Given the description of an element on the screen output the (x, y) to click on. 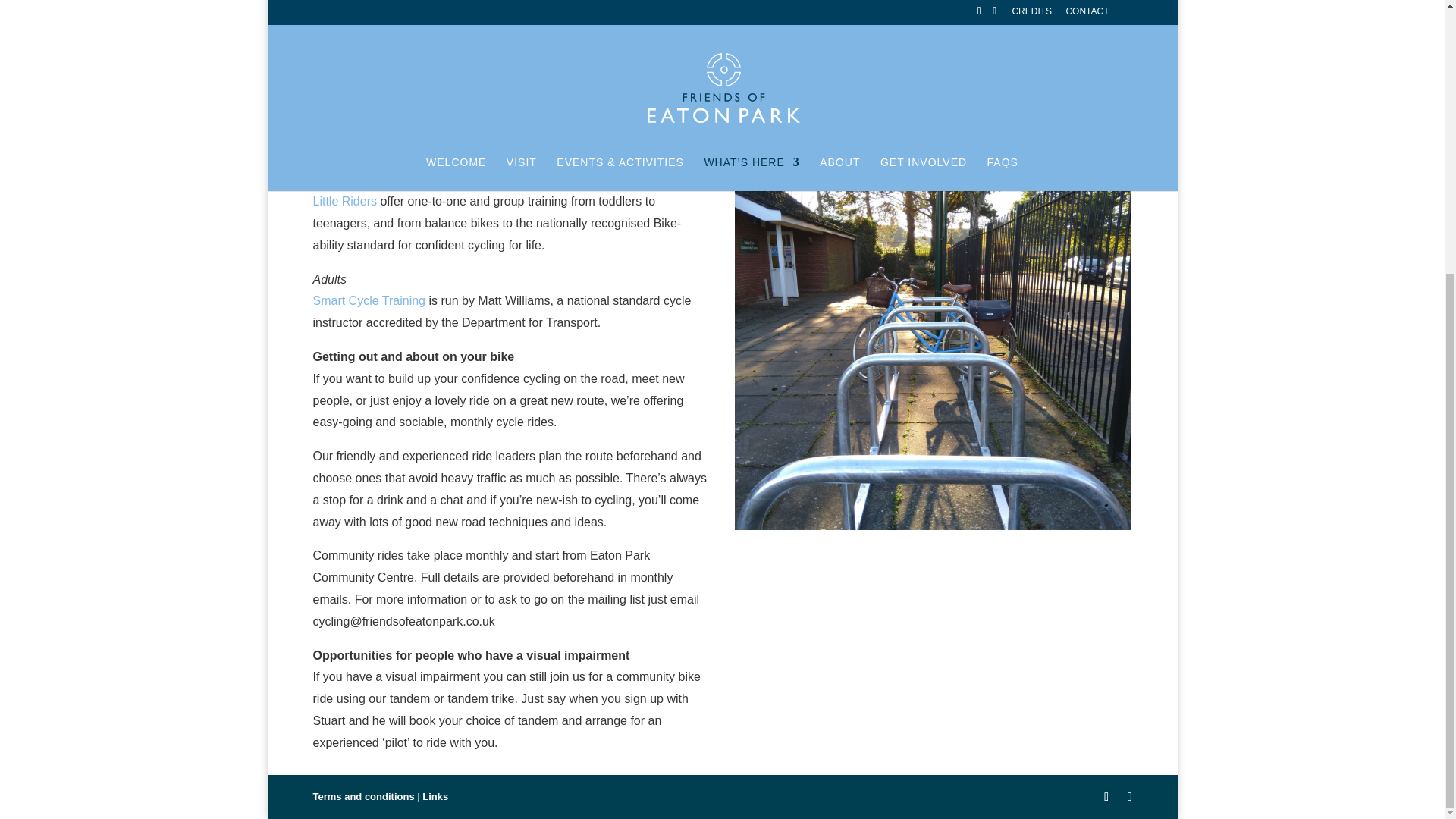
here (907, 141)
here (856, 141)
Smart Cycle Training (369, 300)
Links (435, 796)
Facebook page (391, 24)
Little Riders (344, 201)
Terms and conditions (363, 796)
